Given the description of an element on the screen output the (x, y) to click on. 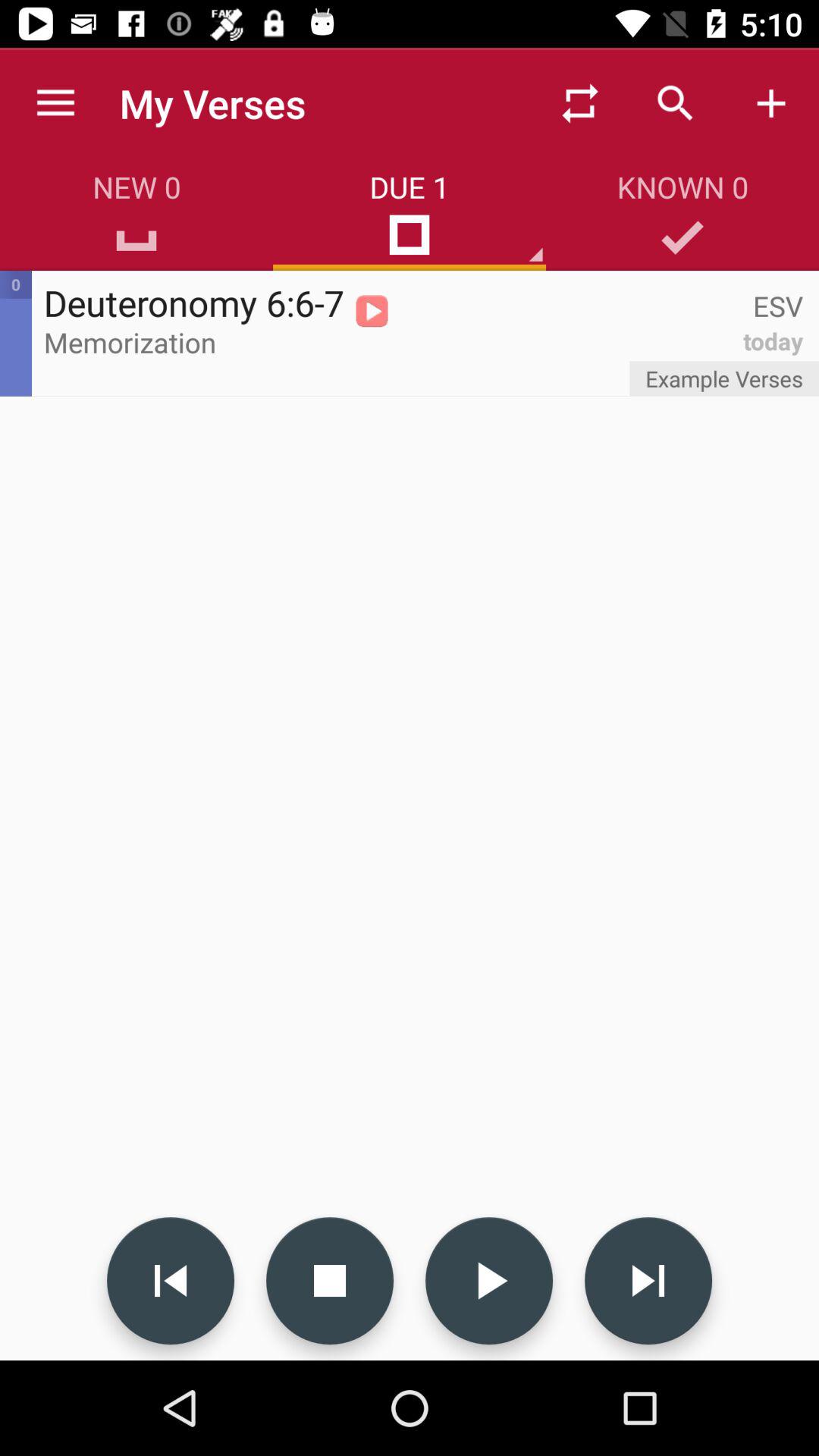
play (488, 1280)
